Given the description of an element on the screen output the (x, y) to click on. 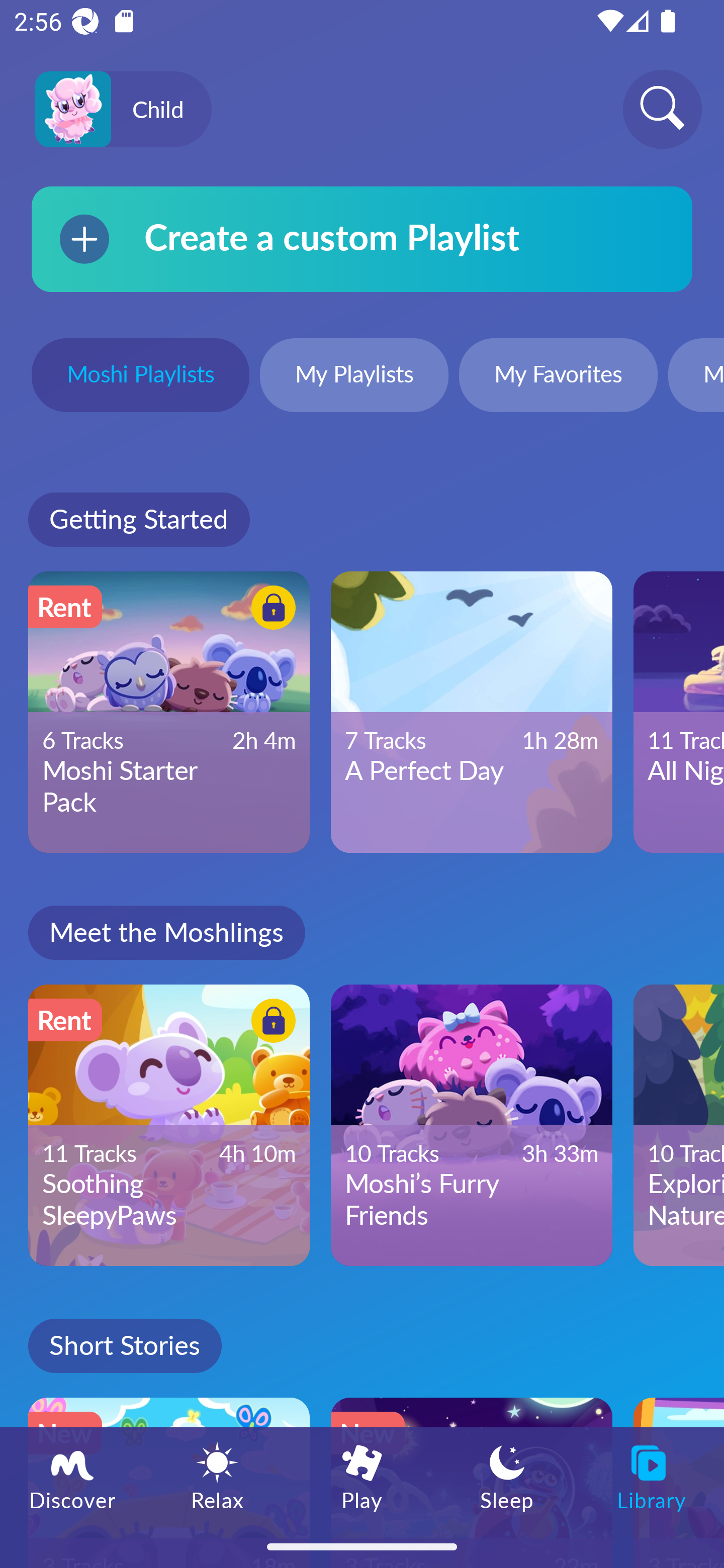
Profile icon Child (123, 109)
Create a custom Playlist (361, 238)
Moshi Playlists (140, 377)
My Playlists (353, 377)
My Favorites (558, 377)
Button (269, 609)
Featured Content 7 Tracks A Perfect Day 1h 28m (471, 711)
Button (269, 1023)
Featured Content New 3 Tracks 18m (168, 1482)
Featured Content New 3 Tracks 22m (471, 1482)
Featured Content 3 Tracks (678, 1482)
Discover (72, 1475)
Relax (216, 1475)
Play (361, 1475)
Sleep (506, 1475)
